Given the description of an element on the screen output the (x, y) to click on. 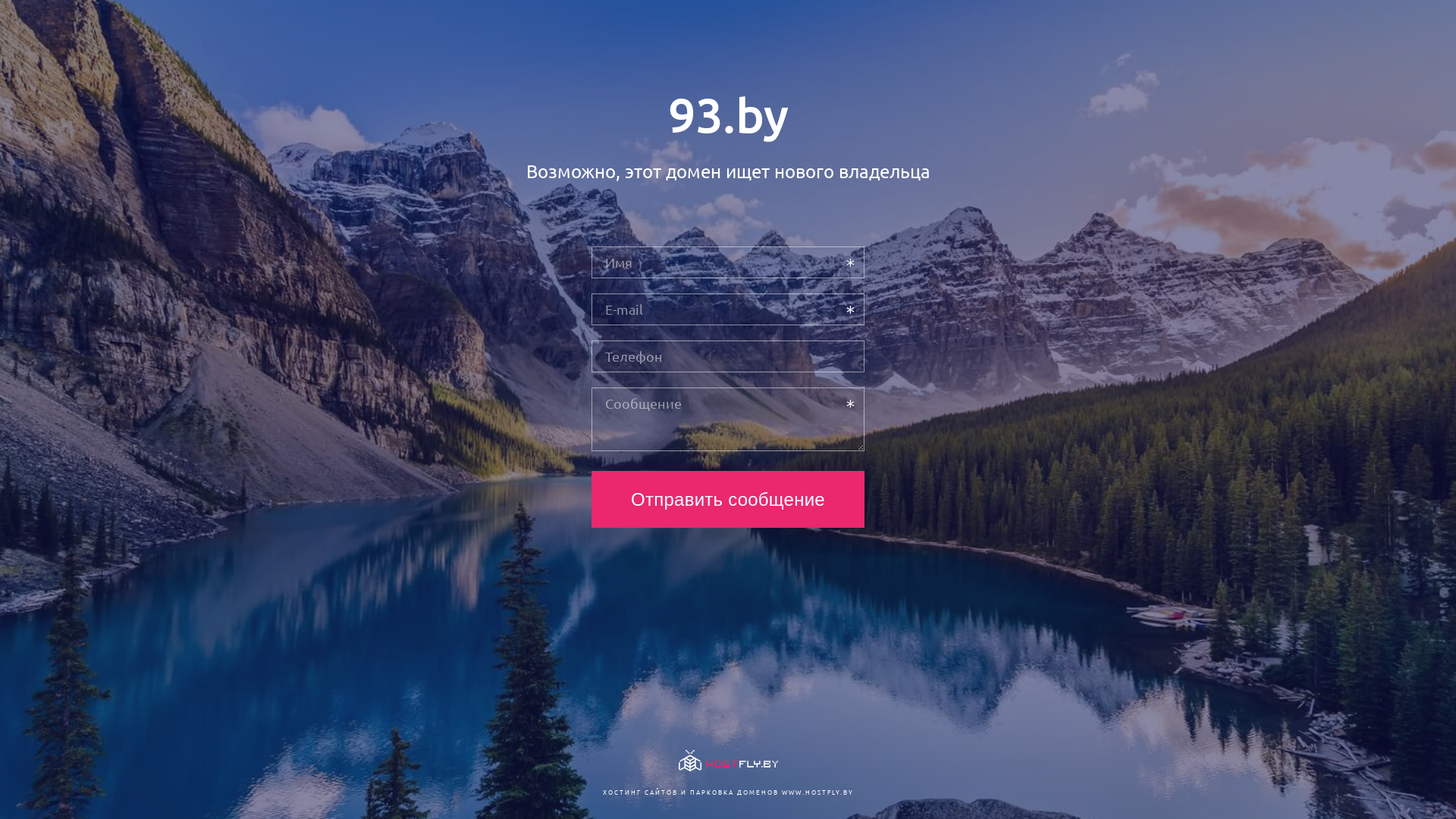
WWW.HOSTFLY.BY Element type: text (817, 791)
